Given the description of an element on the screen output the (x, y) to click on. 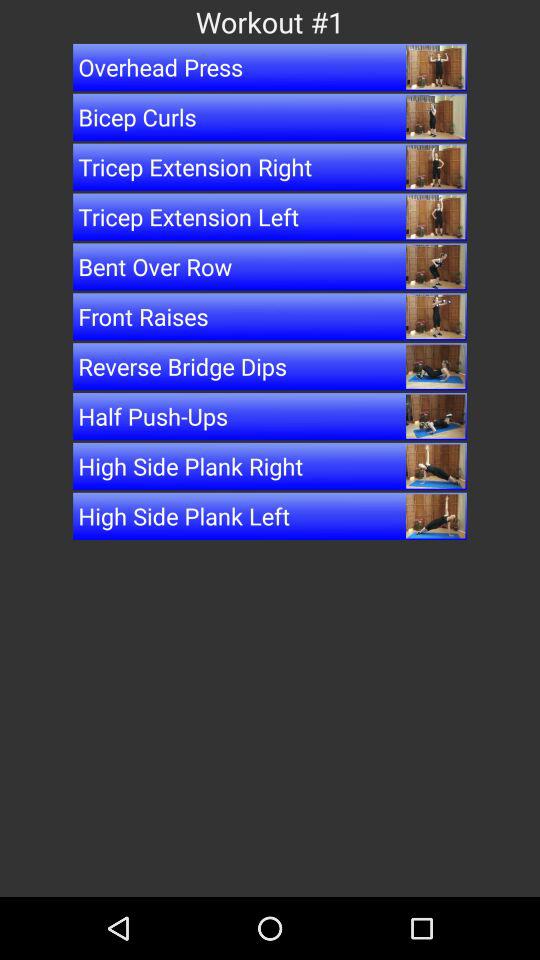
jump to the bent over row item (269, 266)
